Given the description of an element on the screen output the (x, y) to click on. 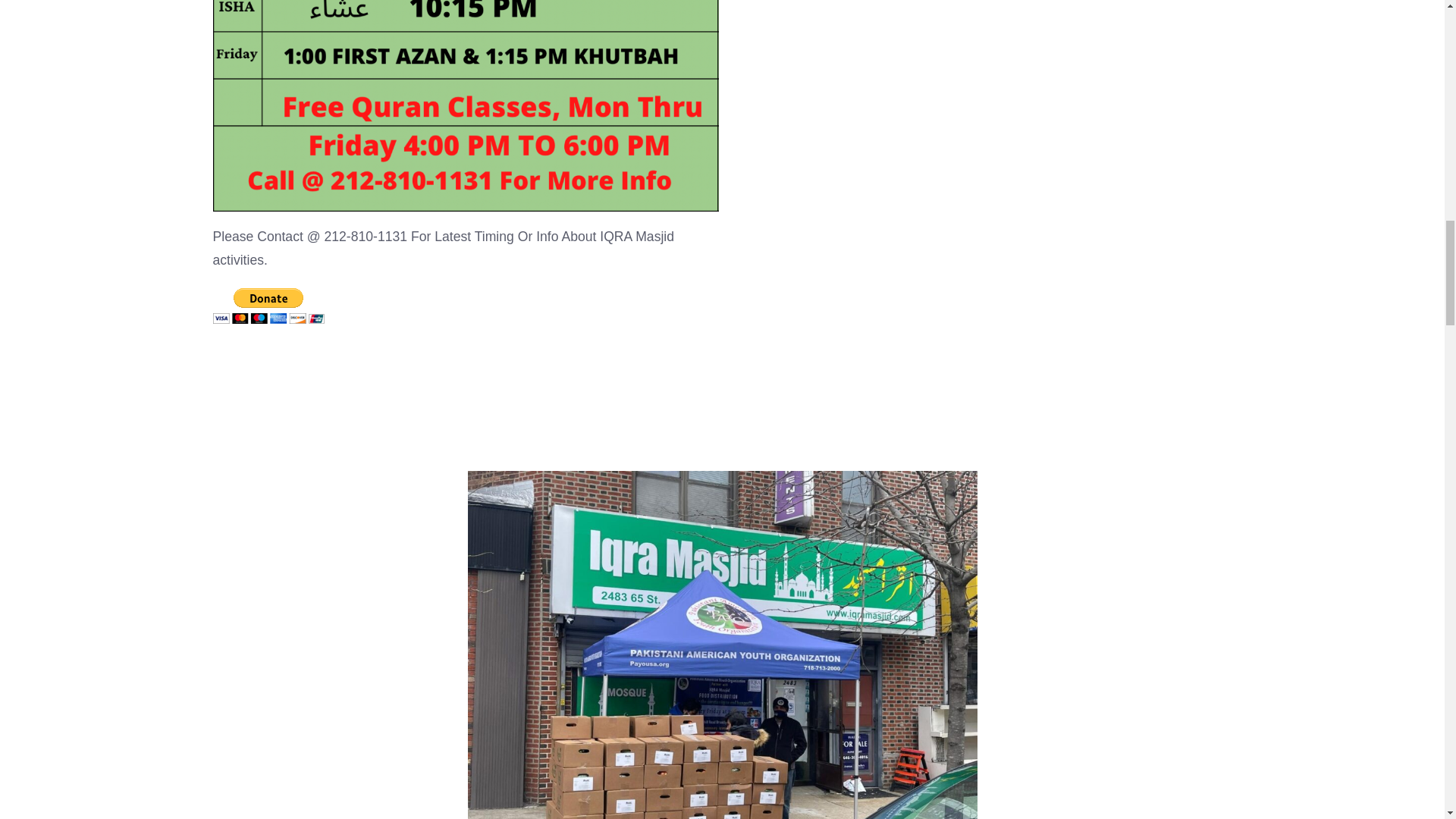
PayPal - The safer, easier way to pay online! (267, 305)
